Given the description of an element on the screen output the (x, y) to click on. 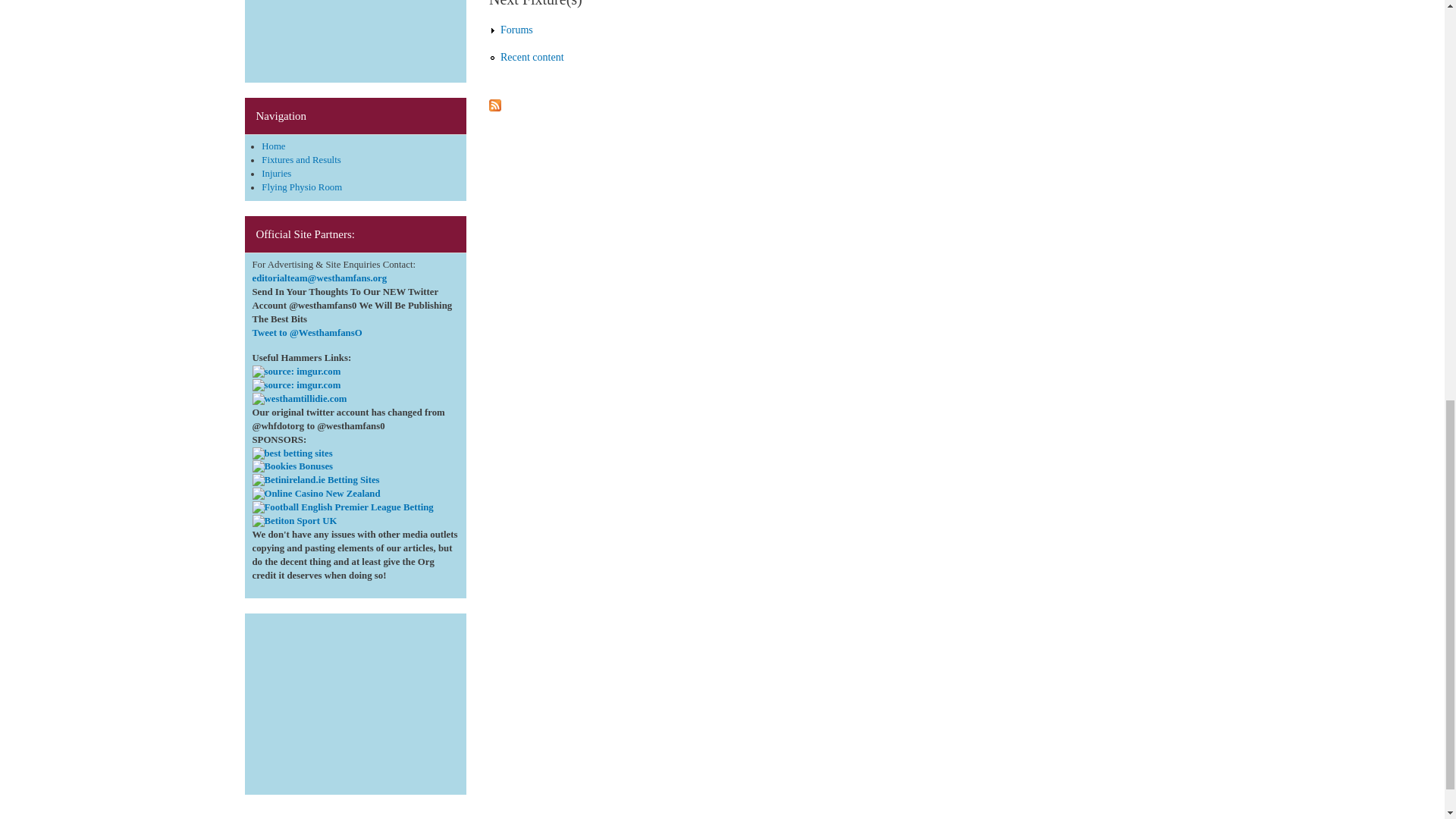
Subscribe to RSS - tottenham hotspur fc (494, 101)
source: imgur.com (295, 372)
source: imgur.com (295, 386)
westhamtillidie.com (298, 399)
